Given the description of an element on the screen output the (x, y) to click on. 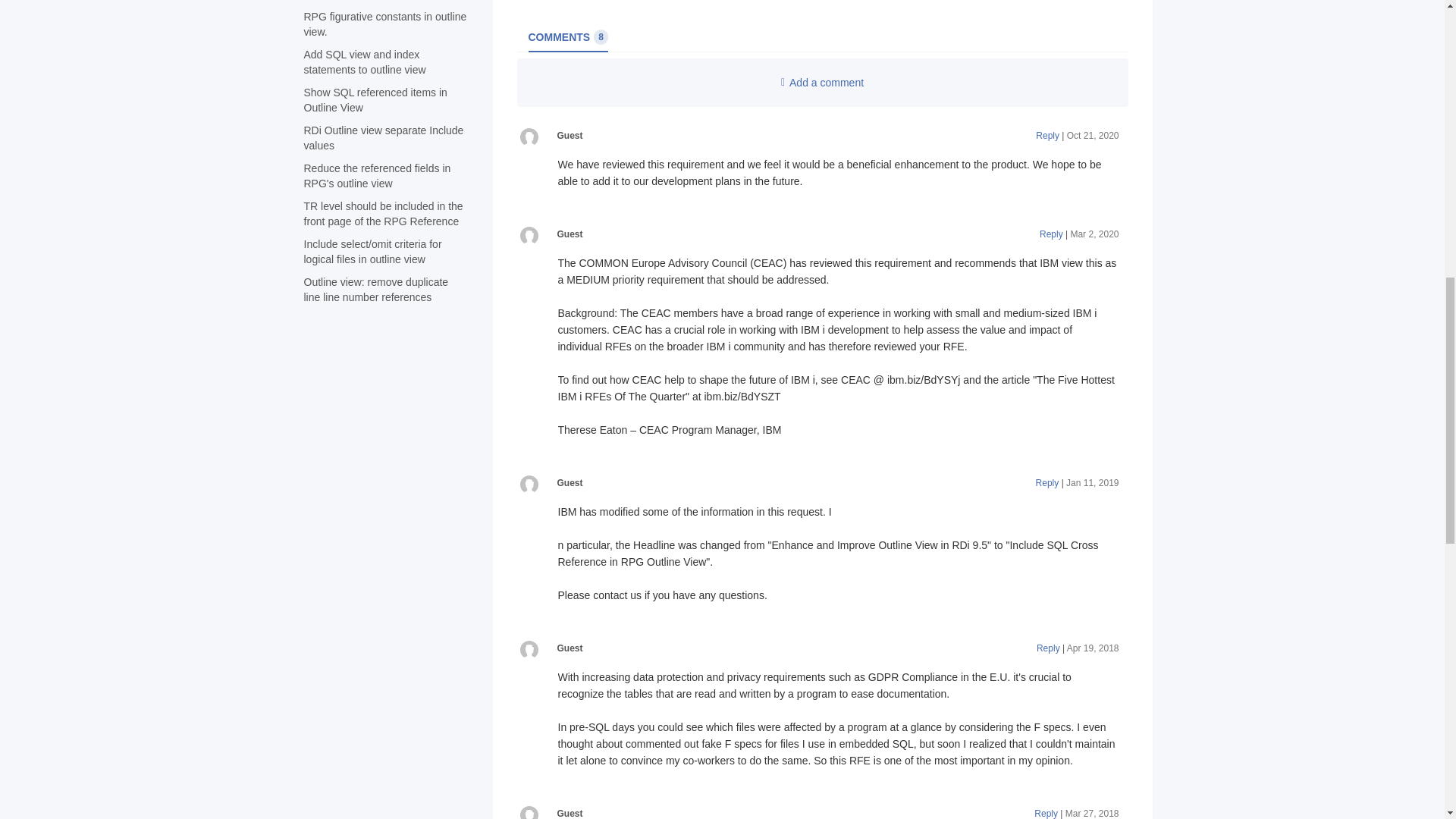
RDi Outline view separate Include values (382, 137)
Reduce the referenced fields in RPG's outline view (567, 36)
Add a comment (375, 175)
RPG figurative constants in outline view. (822, 82)
Outline view: remove duplicate line line number references (383, 23)
Show SQL referenced items in Outline View (375, 289)
Add SQL view and index statements to outline view (374, 99)
Reply (363, 62)
Reply (1050, 234)
